Given the description of an element on the screen output the (x, y) to click on. 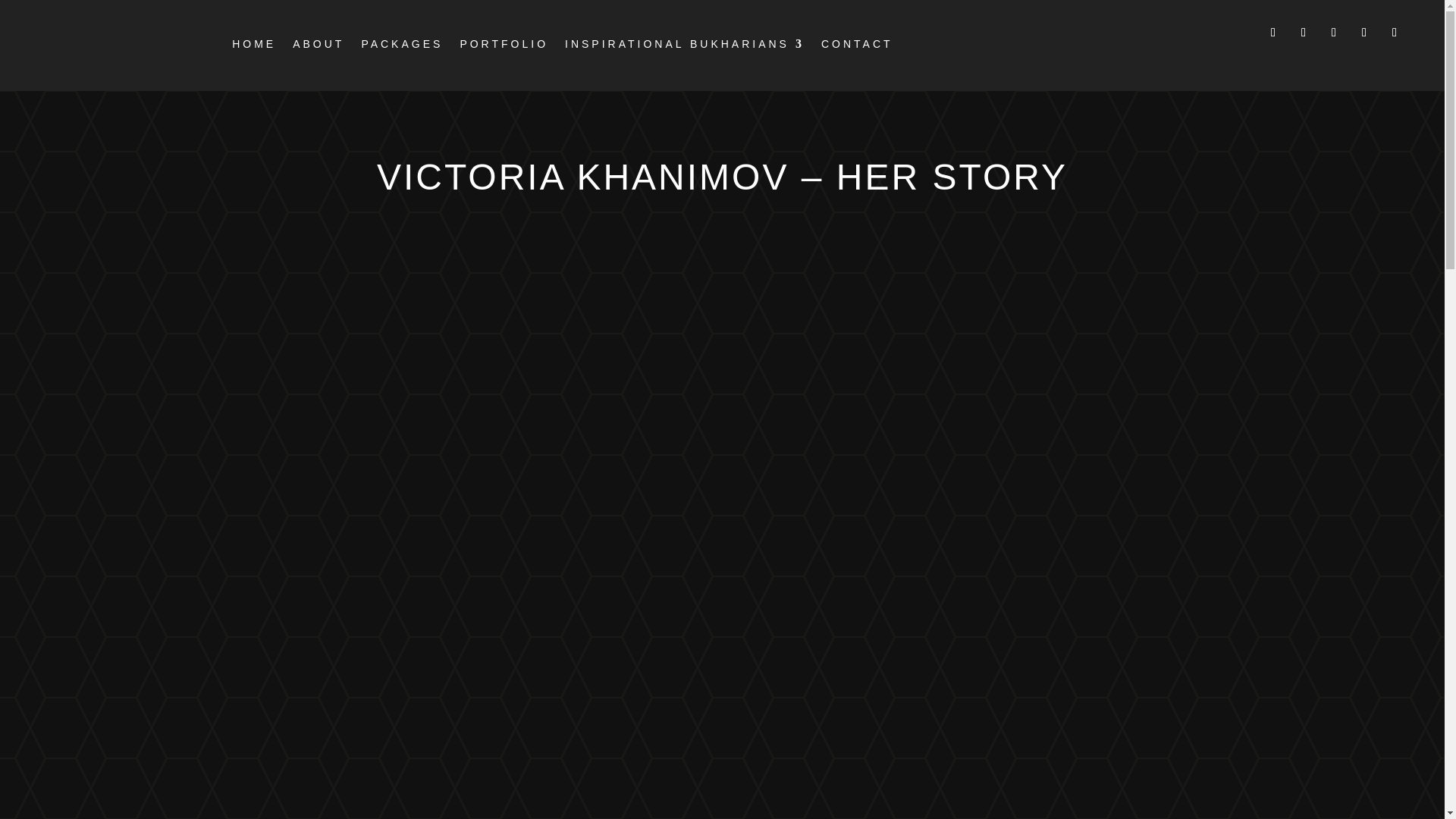
ABOUT (317, 43)
Follow on LinkedIn (1363, 31)
Follow on TikTok (1333, 31)
CONTACT (857, 43)
Follow on Youtube (1393, 31)
Follow on Facebook (1272, 31)
PORTFOLIO (504, 43)
Follow on Instagram (1303, 31)
INSPIRATIONAL BUKHARIANS (684, 43)
PACKAGES (401, 43)
